Given the description of an element on the screen output the (x, y) to click on. 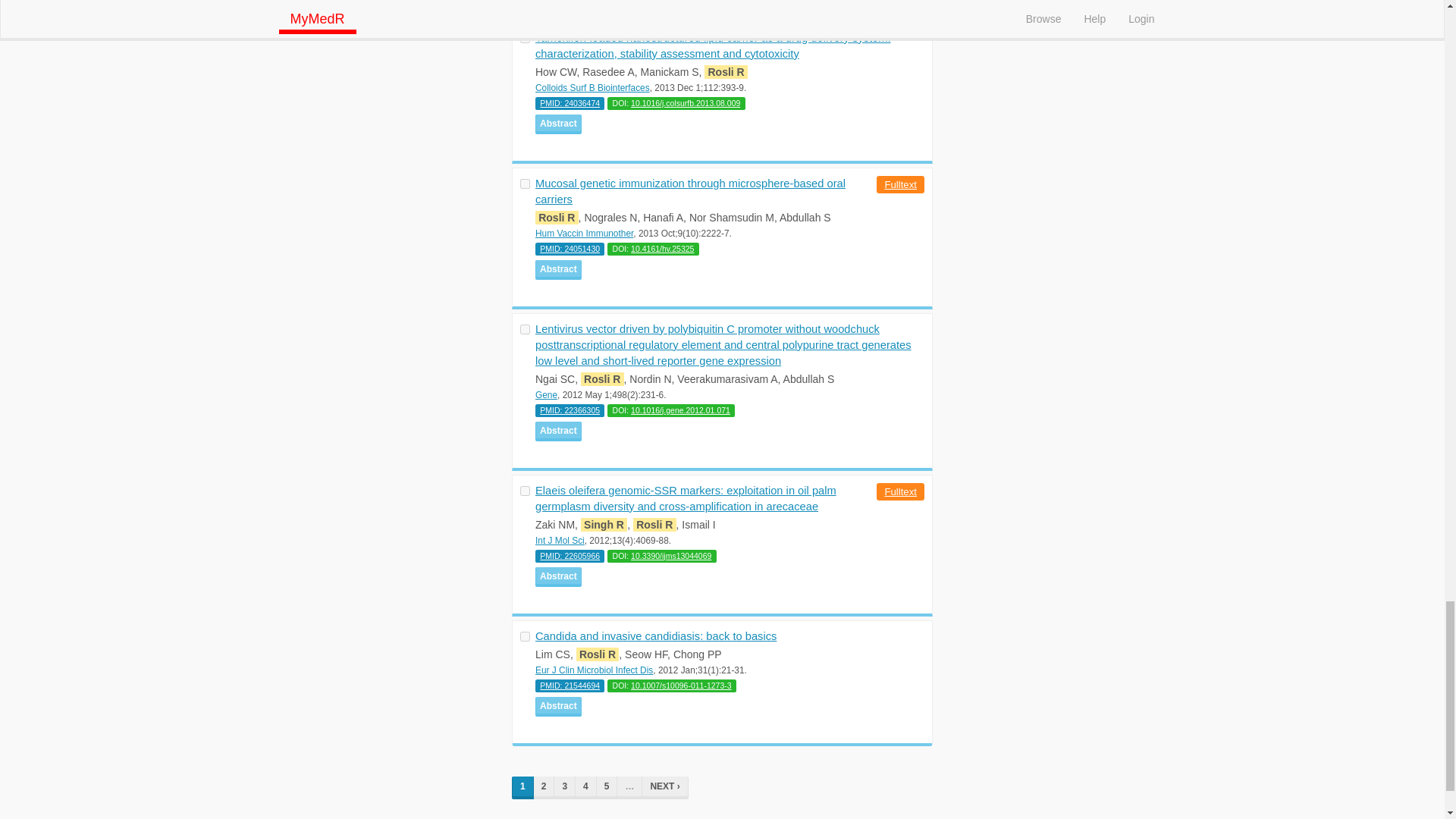
on (524, 329)
on (524, 38)
on (524, 491)
on (524, 184)
